Given the description of an element on the screen output the (x, y) to click on. 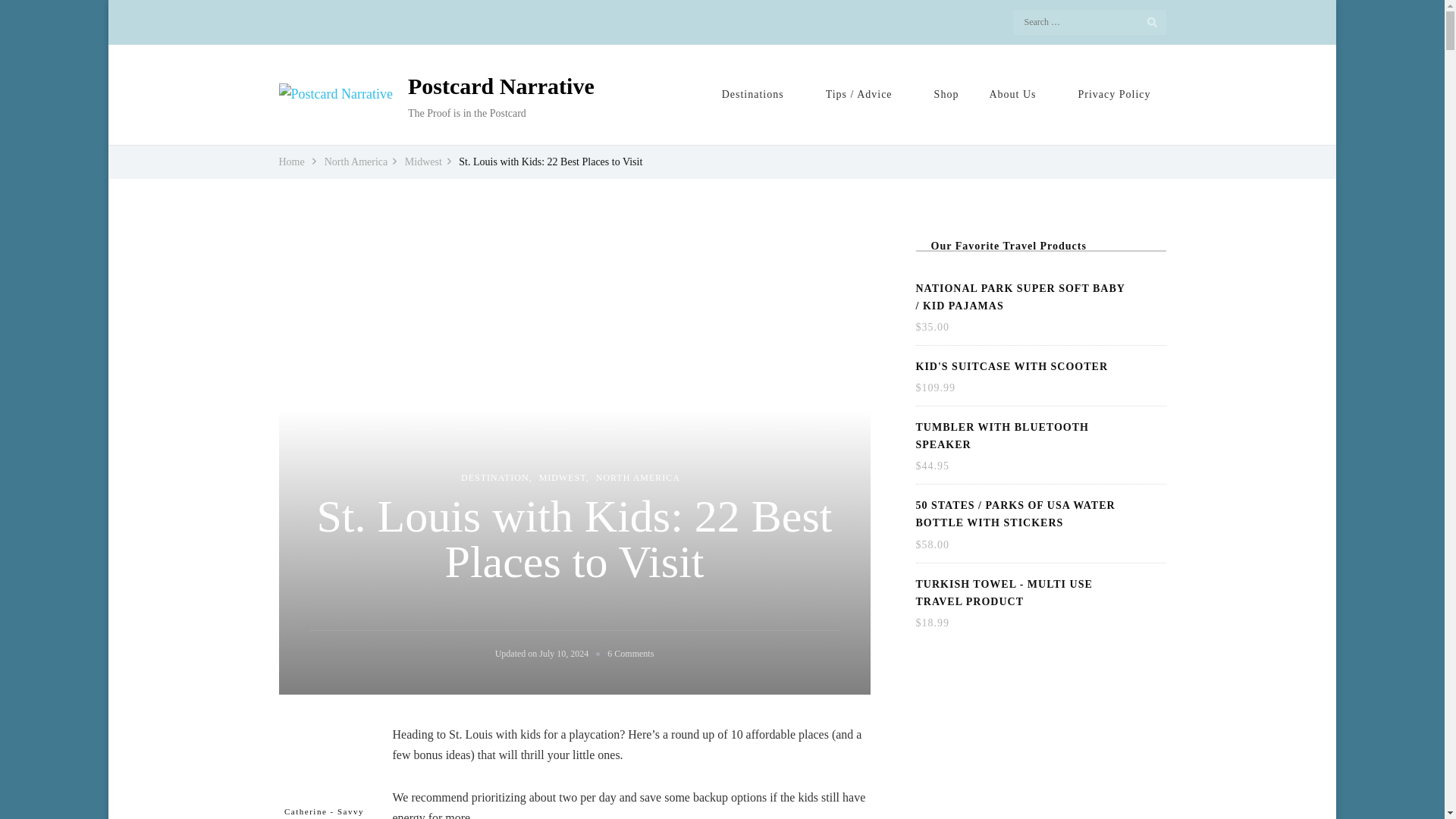
Search (1156, 21)
Search (1156, 21)
Postcard Narrative (500, 84)
Destinations (758, 93)
Search (1156, 21)
